Given the description of an element on the screen output the (x, y) to click on. 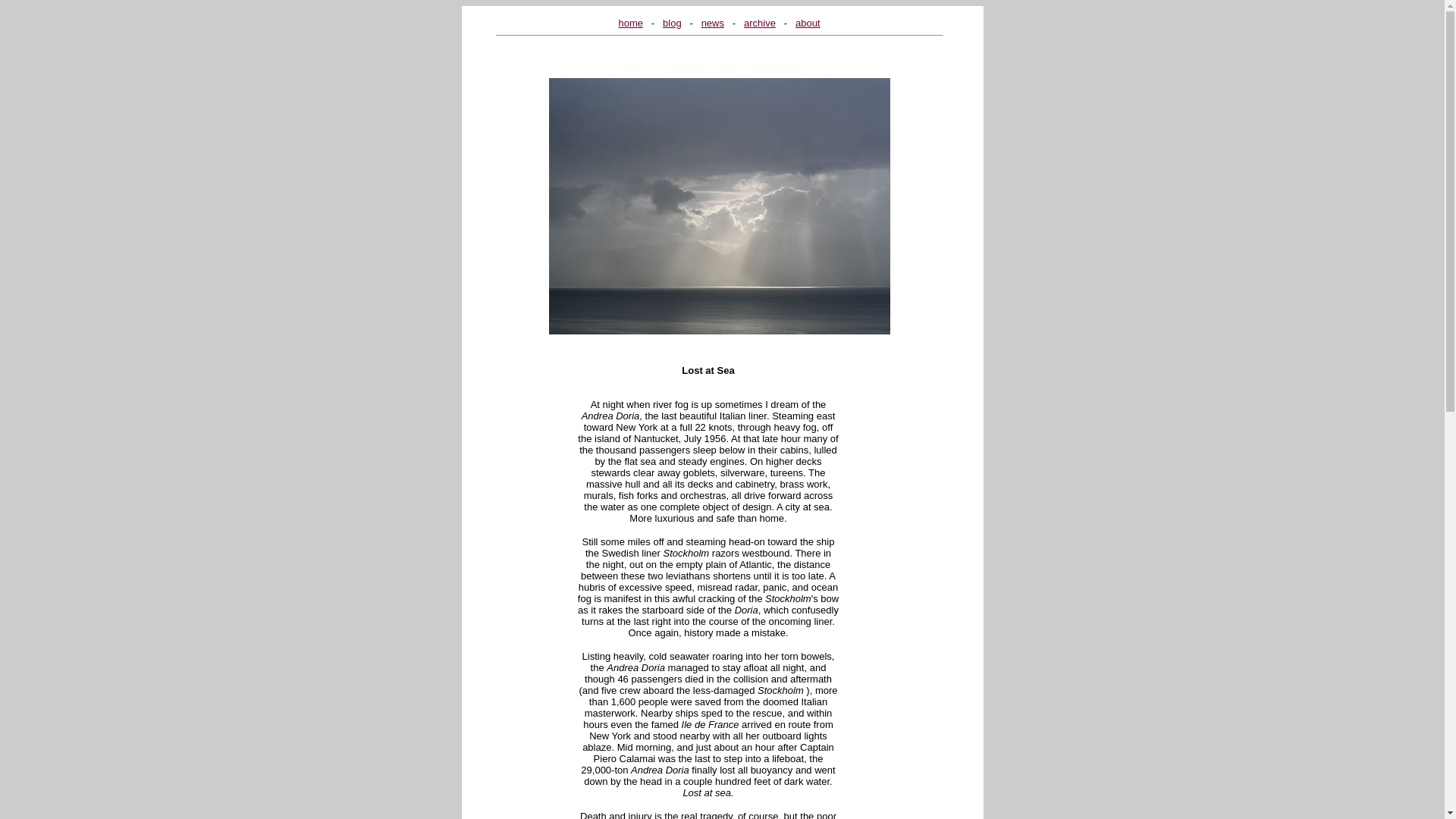
about (807, 22)
archive (760, 22)
news (712, 22)
blog (671, 22)
home (630, 22)
